Given the description of an element on the screen output the (x, y) to click on. 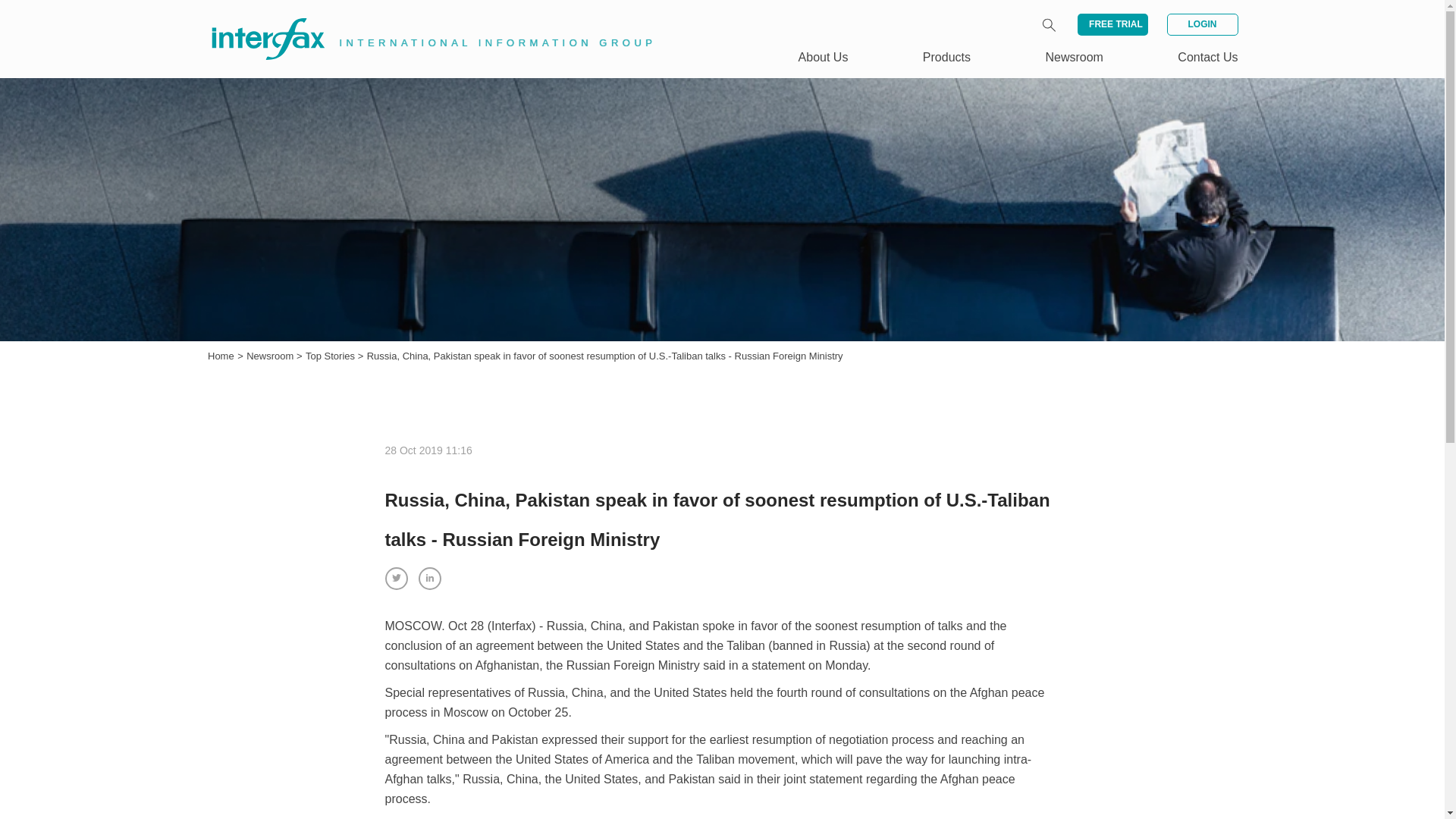
About Us (822, 56)
Contact Us (1207, 56)
Home (221, 355)
Newsroom (271, 355)
Newsroom (271, 355)
LOGIN (1201, 24)
Products (947, 56)
Top Stories (331, 355)
FREE TRIAL (1112, 24)
Contact Us (1207, 56)
INTERNATIONAL INFORMATION GROUP (421, 20)
Newsroom (1073, 56)
